Given the description of an element on the screen output the (x, y) to click on. 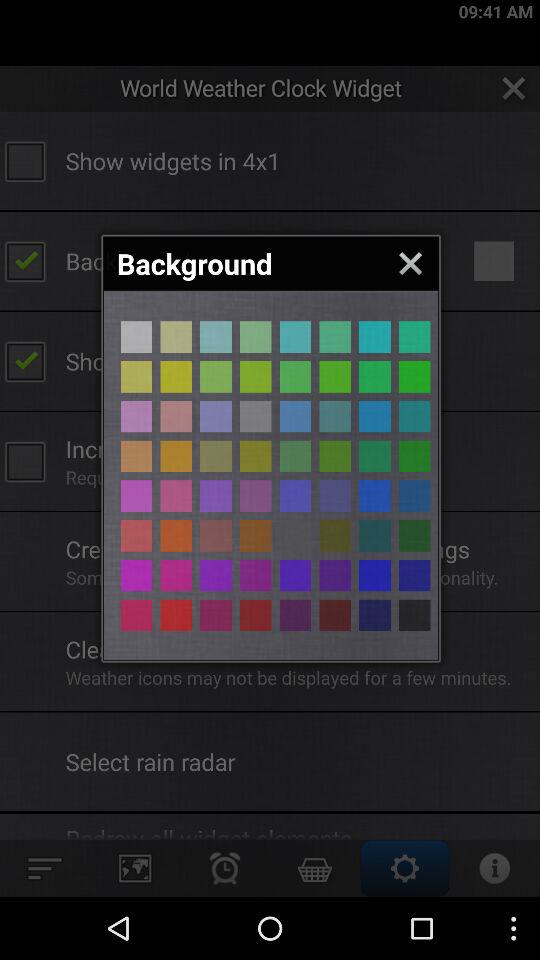
different colour page (335, 416)
